Given the description of an element on the screen output the (x, y) to click on. 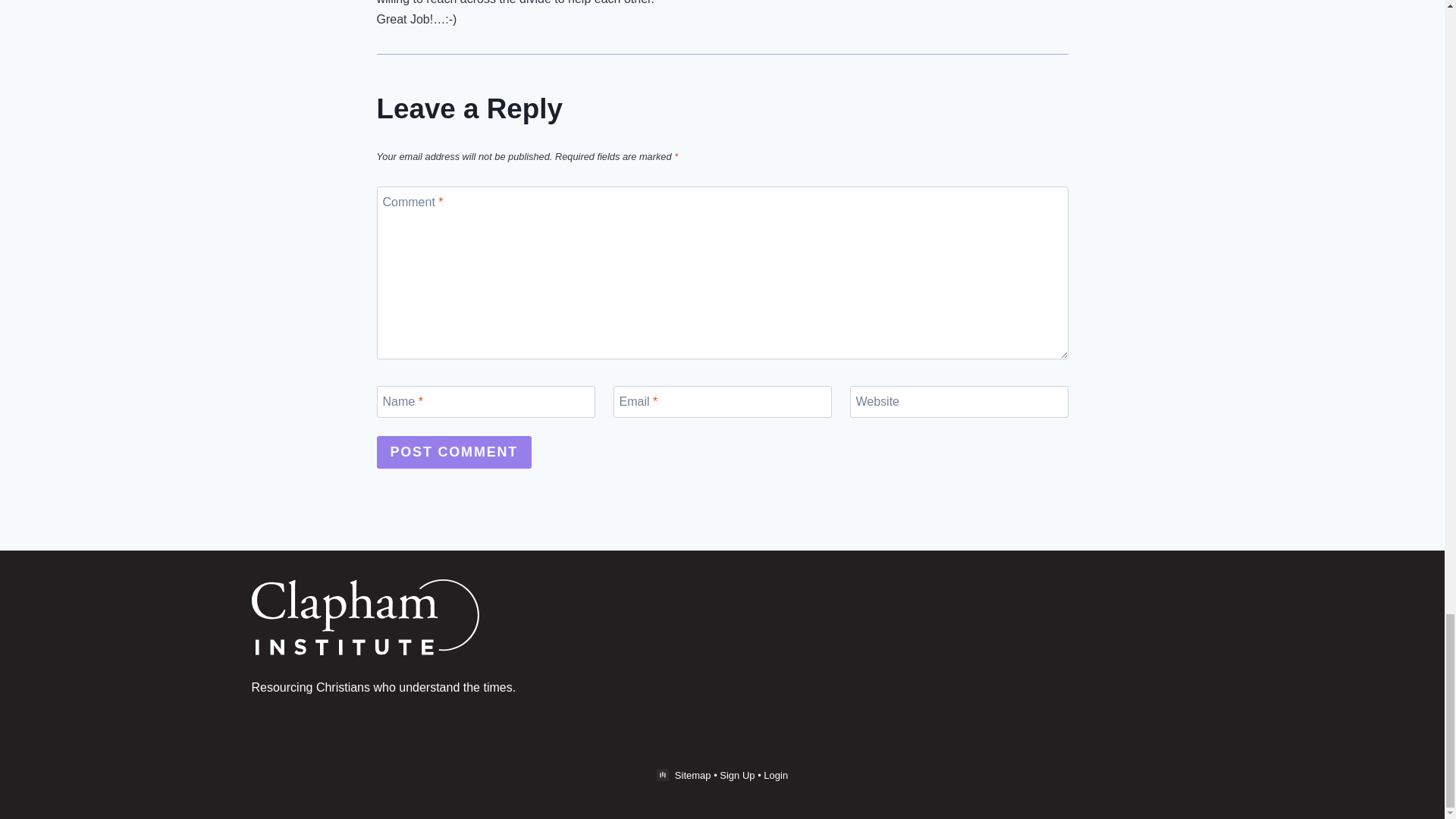
Sitemap (693, 775)
Post Comment (453, 451)
Post Comment (453, 451)
Sign Up (736, 775)
Login (774, 775)
